Given the description of an element on the screen output the (x, y) to click on. 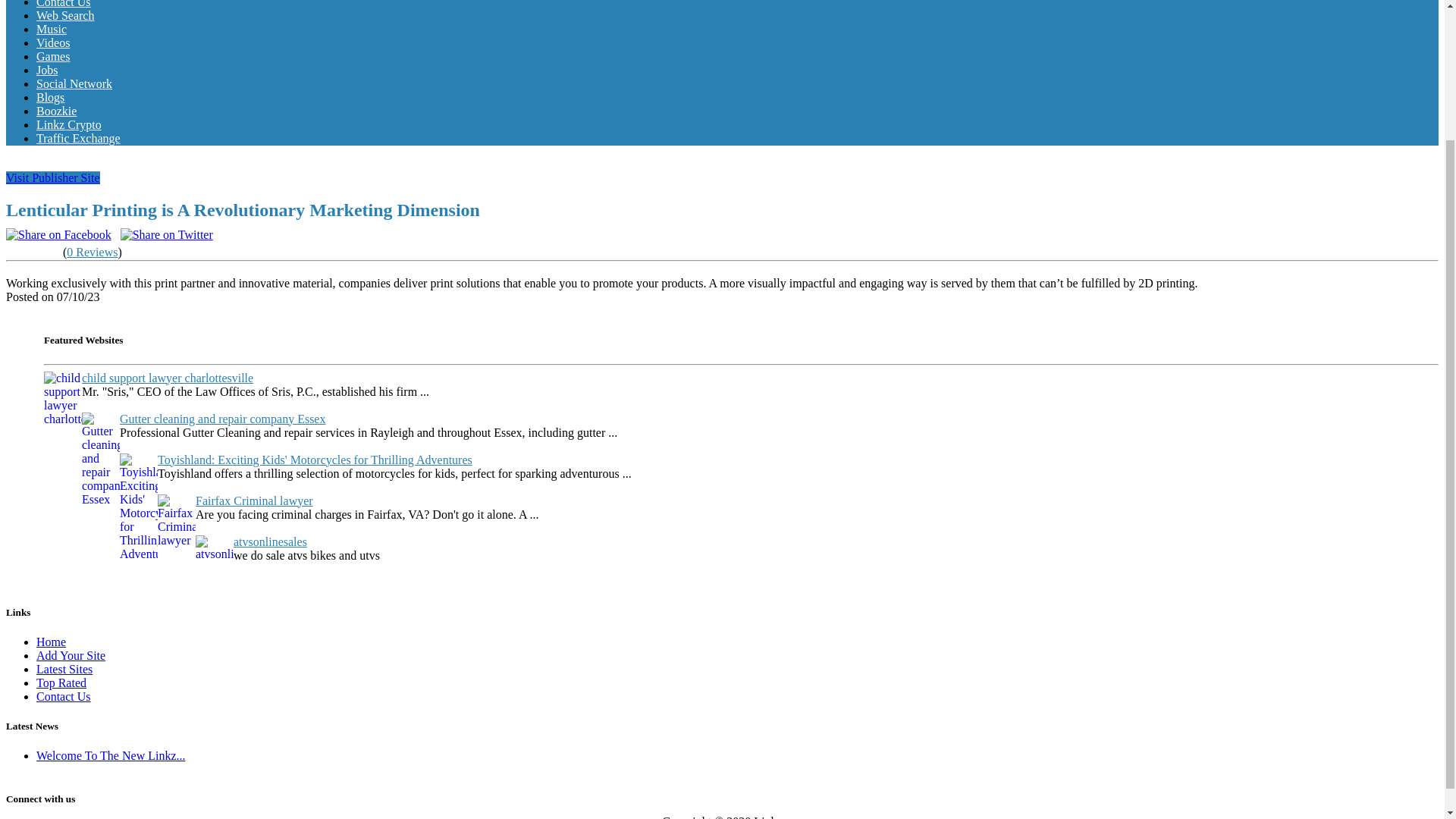
Top Rated (60, 682)
Welcome To The New Linkz... (111, 755)
Web Search (65, 15)
Jobs (47, 69)
0 Reviews (91, 251)
Contact Us (63, 4)
Linkz Crypto (68, 124)
Contact Us (63, 696)
Videos (52, 42)
child support lawyer charlottesville (167, 377)
Visit Publisher Site (52, 177)
Home (50, 641)
Boozkie (56, 110)
Fairfax Criminal lawyer (254, 500)
